Given the description of an element on the screen output the (x, y) to click on. 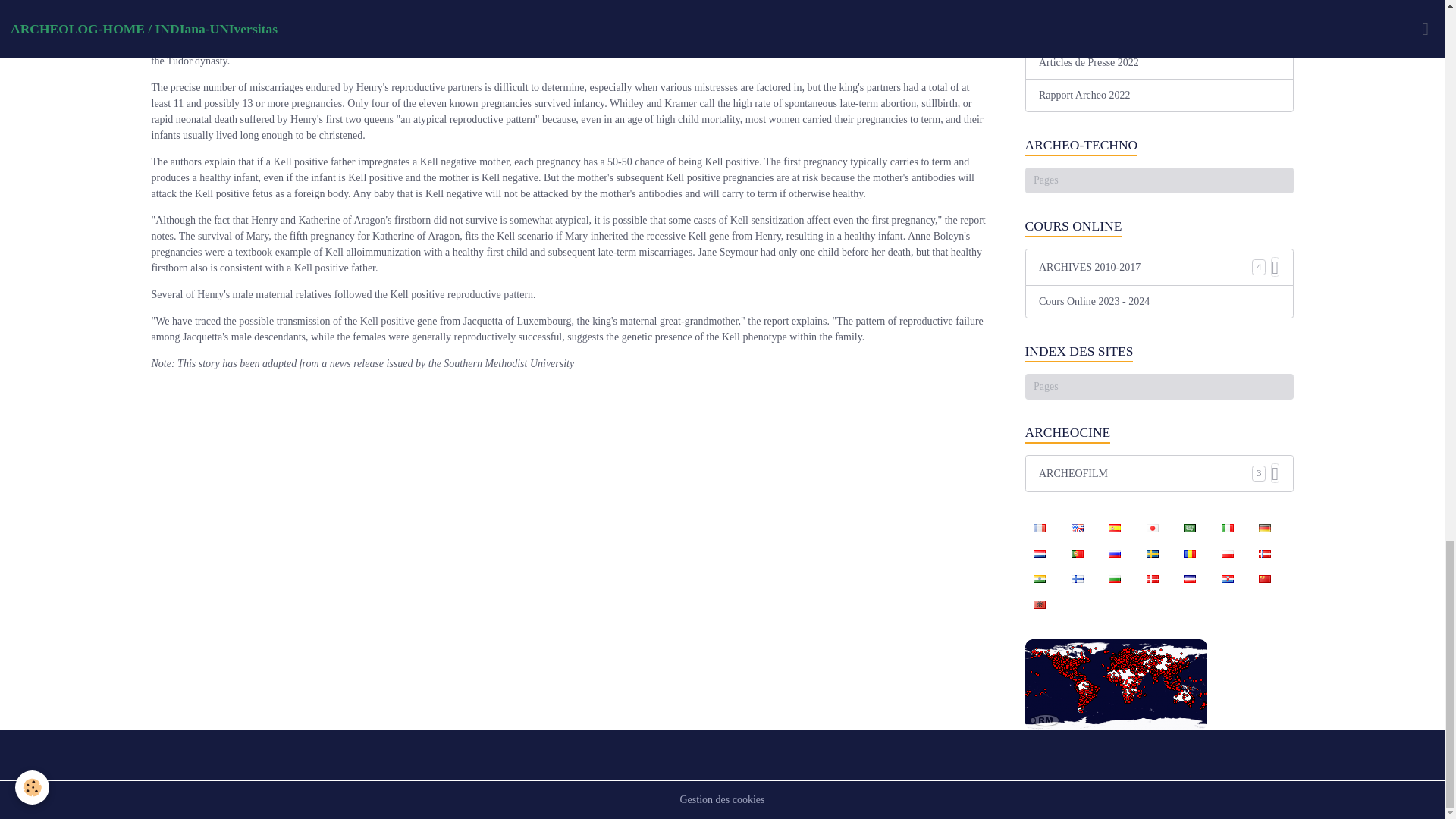
Romanian (1189, 552)
Russian (1114, 552)
Finnish (1077, 578)
Polish (1226, 552)
English (1077, 527)
Portuguesa (1077, 552)
Nederlands (1039, 552)
Hindi (1039, 578)
Danish (1152, 578)
Japanese (1152, 527)
Swedish (1152, 552)
Czech (1189, 578)
Bulgarian (1114, 578)
Arabic (1189, 527)
Italiano (1226, 527)
